Given the description of an element on the screen output the (x, y) to click on. 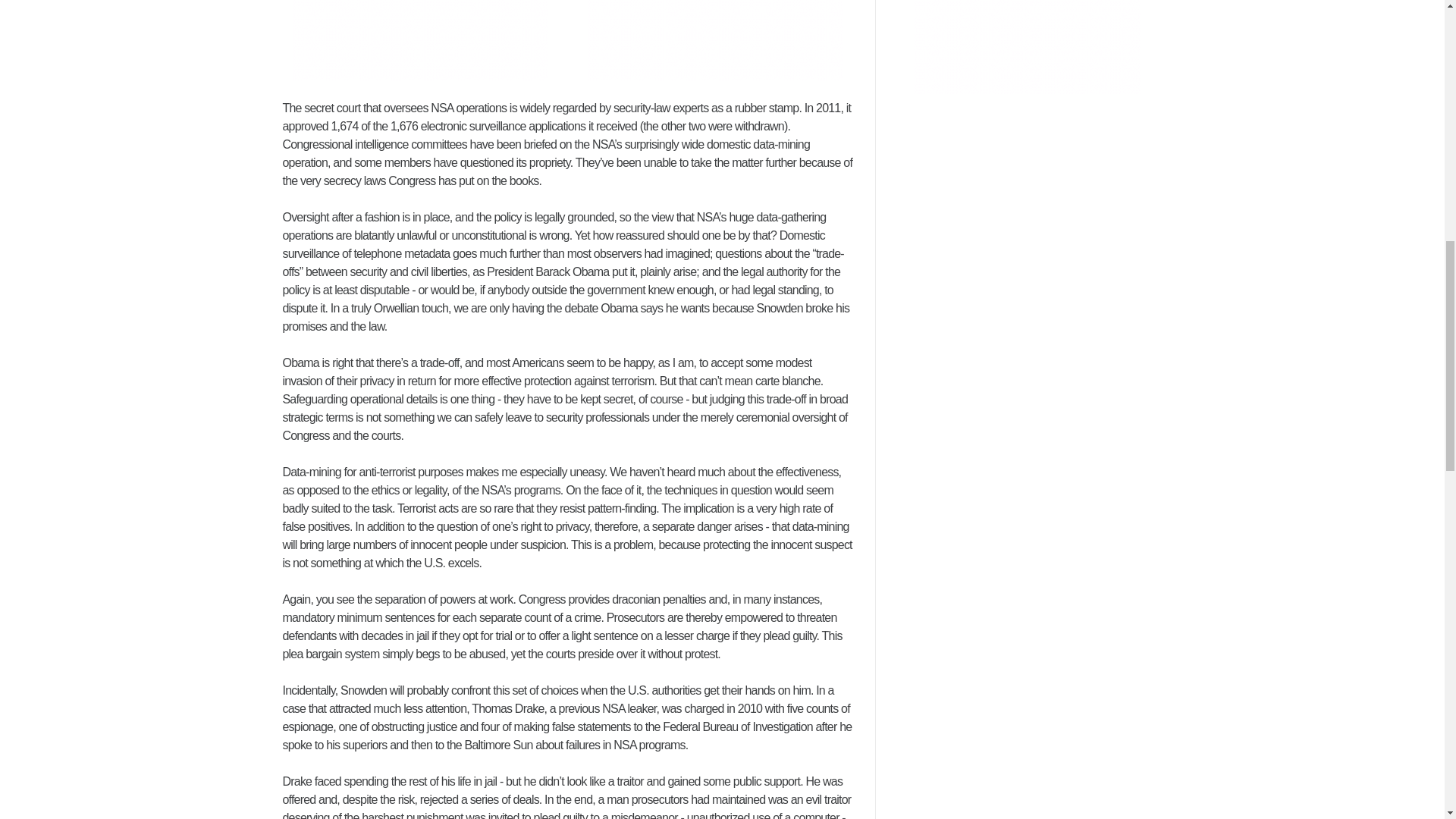
3rd party ad content (419, 40)
3rd party ad content (715, 40)
